Given the description of an element on the screen output the (x, y) to click on. 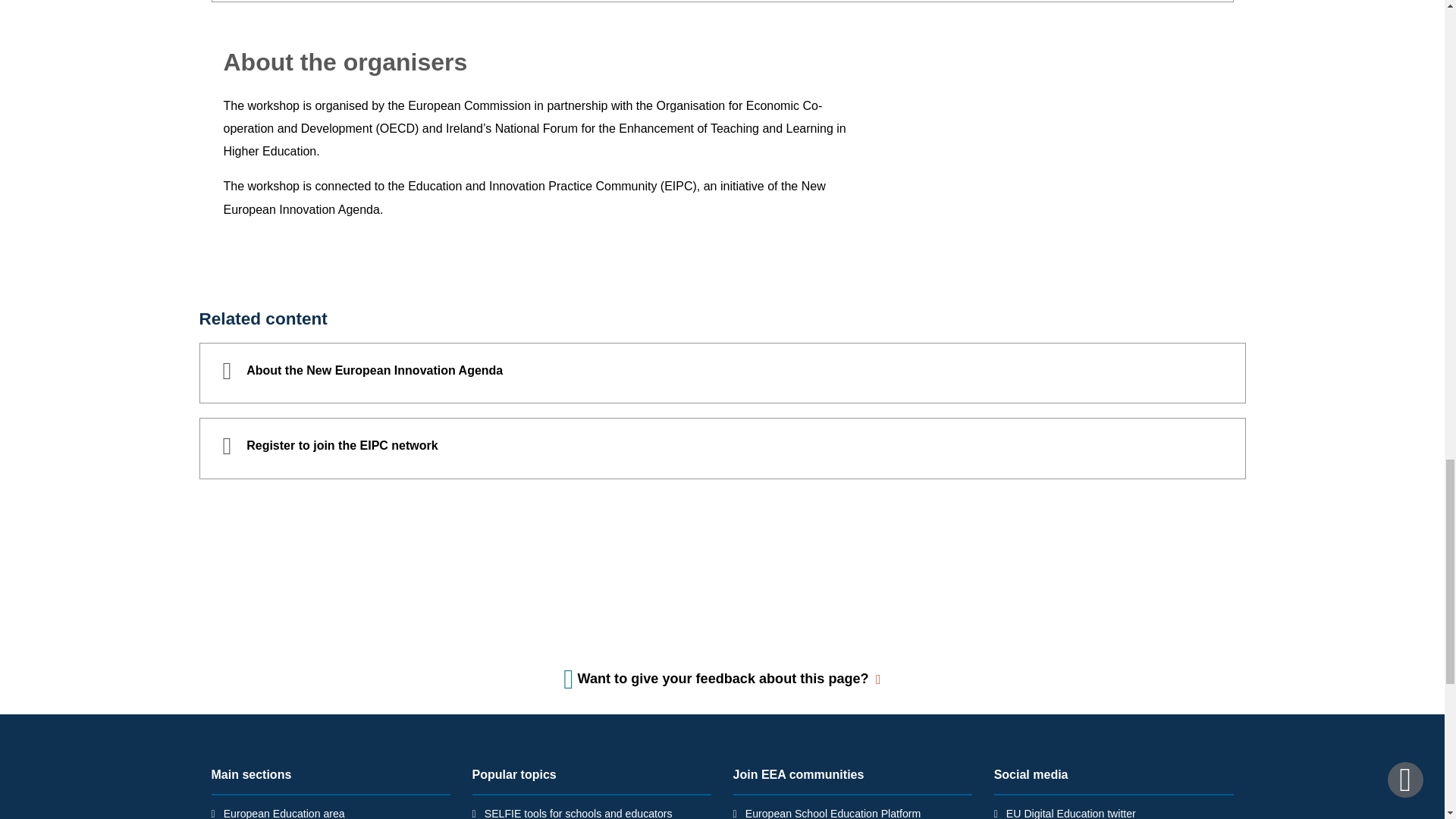
Want to give your feedback about this page? (722, 678)
SELFIE tools for schools and educators (578, 813)
European School Education Platform (832, 813)
About the New European Innovation Agenda (721, 373)
About the New European Innovation Agenda (721, 373)
European Education area (284, 813)
Register to join the EIPC network (721, 447)
EU Digital Education twitter (1070, 813)
Register to join the EIPC network (721, 447)
